Given the description of an element on the screen output the (x, y) to click on. 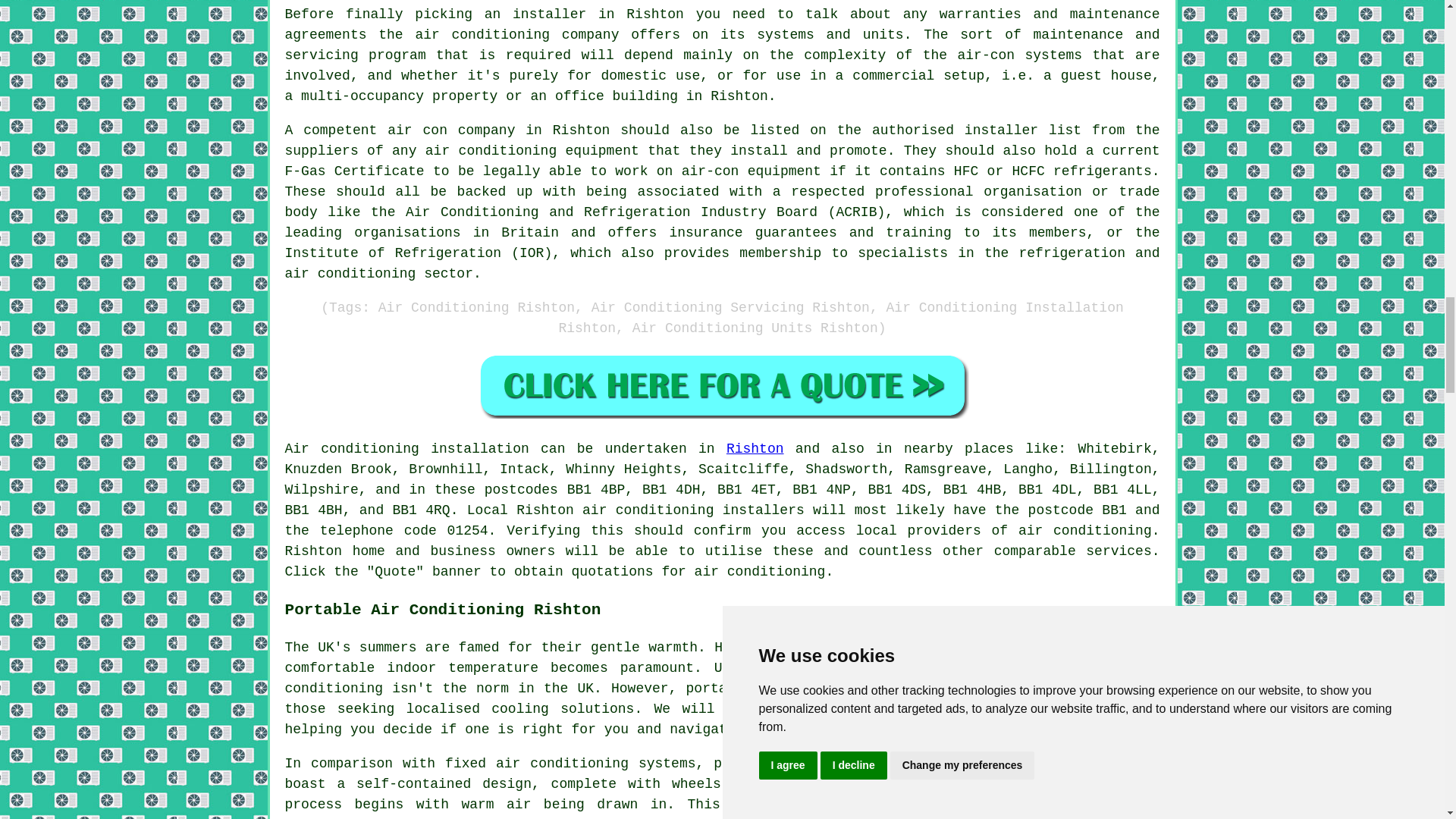
installer (1000, 130)
air conditioning company (516, 34)
Quotes for Air Conditioning Installation in Rishton UK (722, 385)
